Given the description of an element on the screen output the (x, y) to click on. 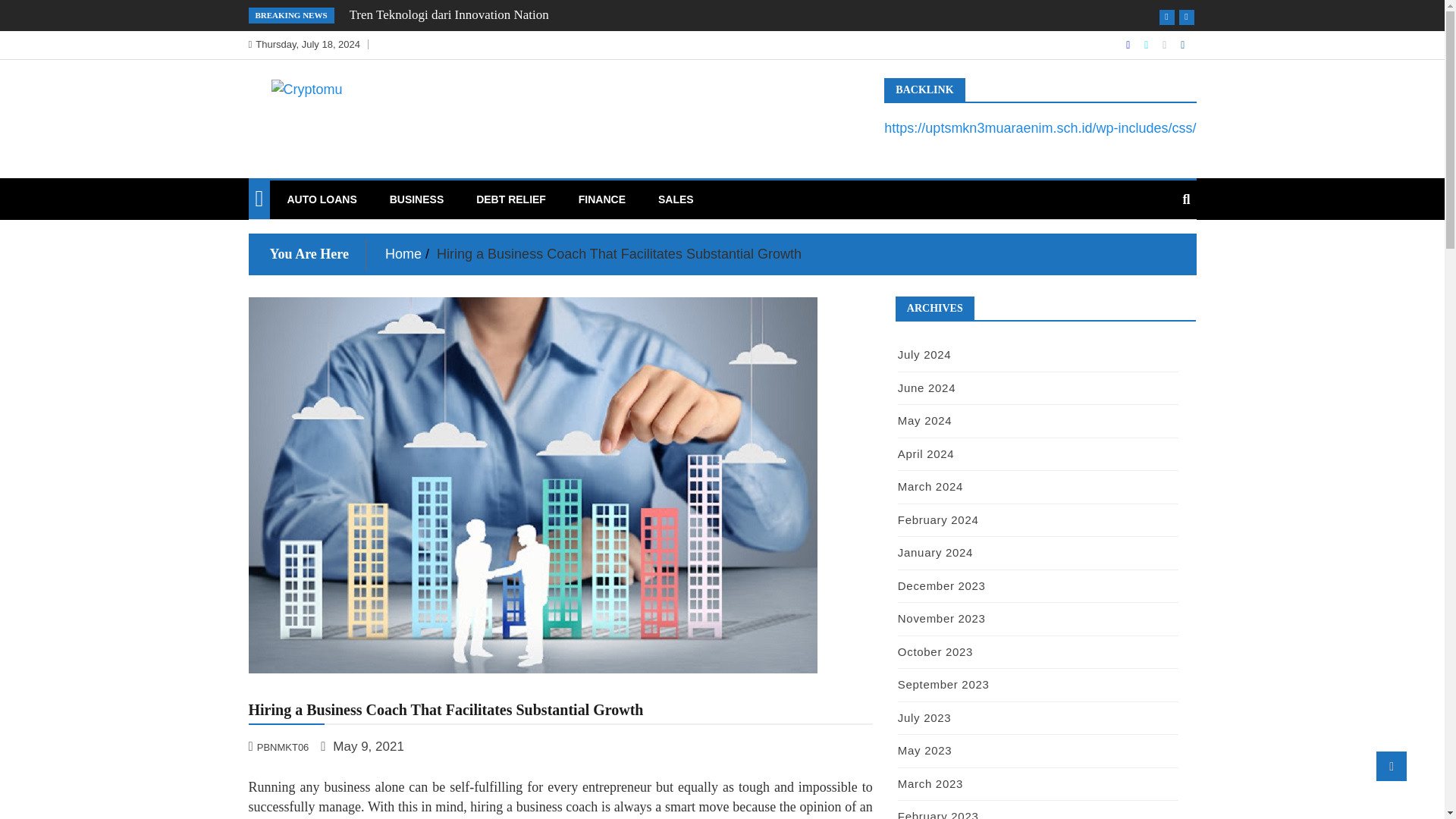
AUTO LOANS (321, 199)
Facebook (1128, 44)
Linkdin (1182, 44)
BUSINESS (416, 199)
DEBT RELIEF (510, 199)
SALES (675, 199)
FINANCE (602, 199)
Instagram (1165, 44)
Twitter (1147, 44)
Cryptomu (308, 120)
Tren Teknologi dari Innovation Nation (448, 14)
